Given the description of an element on the screen output the (x, y) to click on. 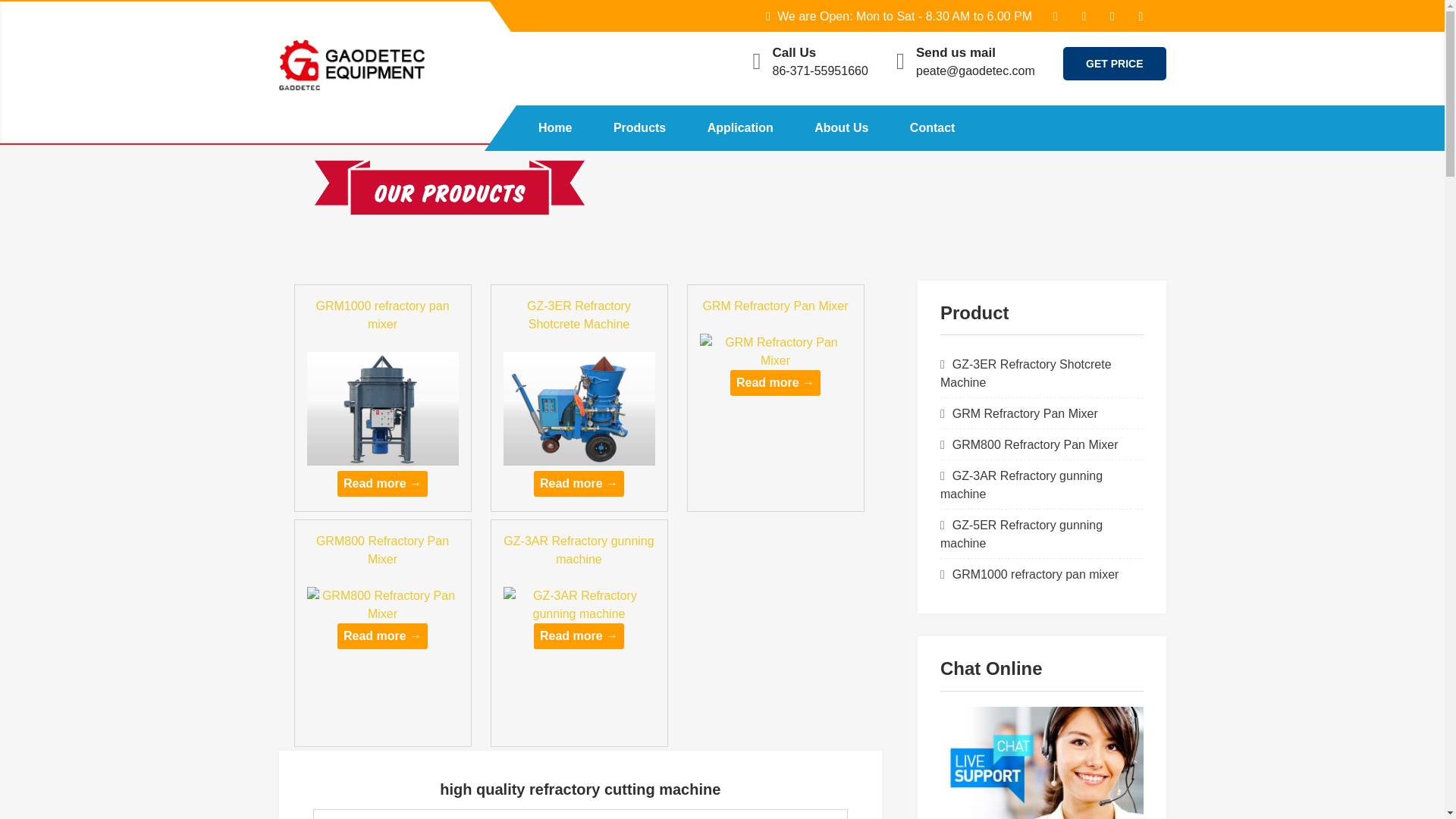
GZ-3ER Refractory Shotcrete Machine (579, 401)
GRM800 Refractory Pan Mixer (381, 549)
About Us (840, 127)
Contact (932, 127)
GRM1000 refractory pan mixer (382, 483)
GZ-3AR Refractory gunning machine (1021, 484)
GRM1000 refractory pan mixer (381, 314)
GRM800 Refractory Pan Mixer (1035, 444)
GRM1000 refractory pan mixer (1035, 574)
Application (740, 127)
GRM1000 refractory pan mixer (381, 314)
GZ-5ER Refractory gunning machine (1021, 533)
GZ-3ER Refractory Shotcrete Machine (578, 314)
